Given the description of an element on the screen output the (x, y) to click on. 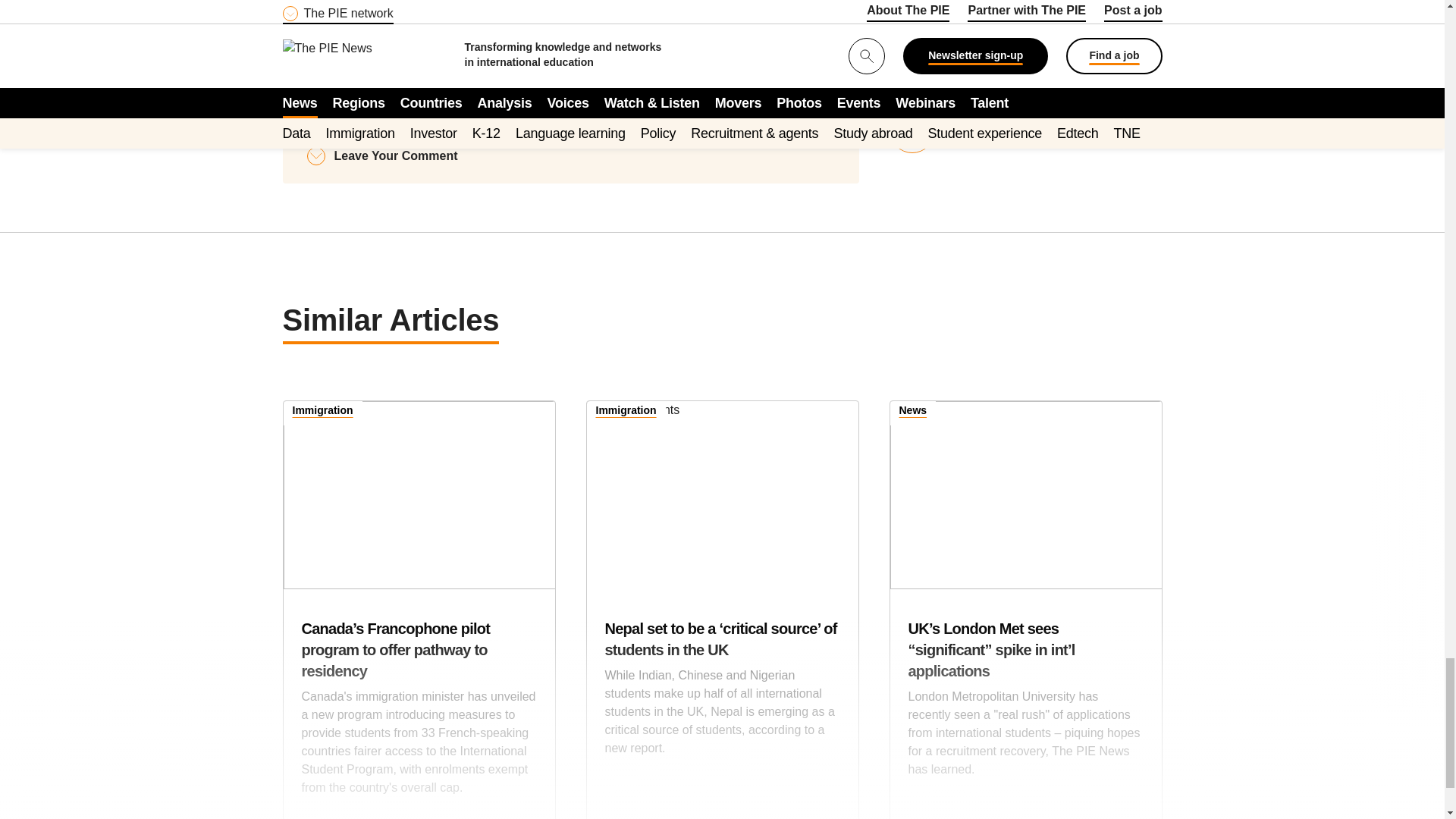
View all News articles (912, 412)
View all Immigration articles (322, 412)
View all Immigration articles (625, 412)
